Given the description of an element on the screen output the (x, y) to click on. 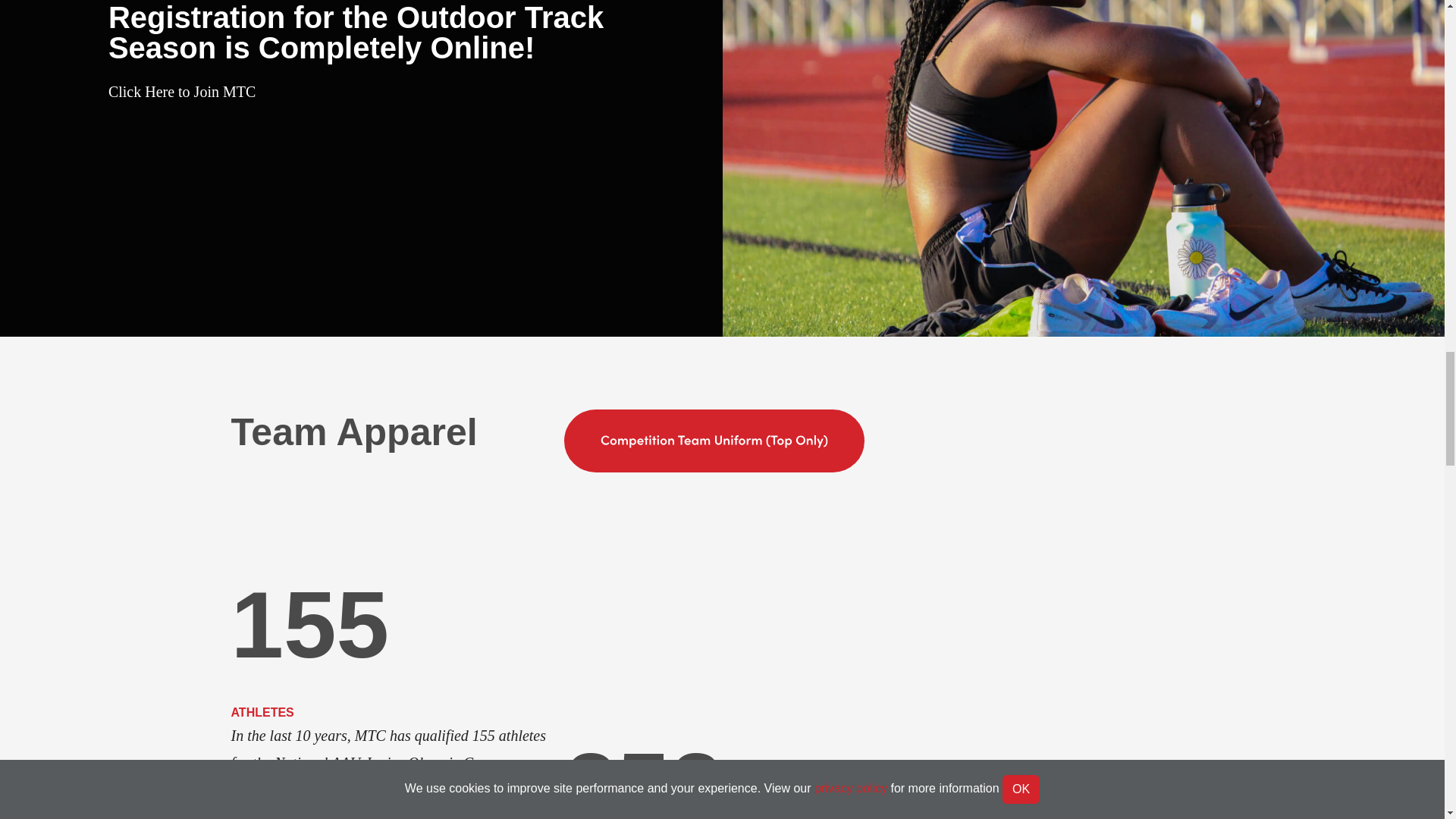
Click Here to Join MTC (181, 91)
Join MTC (181, 91)
PayPal - The safer, easier way to pay online! (714, 440)
